Given the description of an element on the screen output the (x, y) to click on. 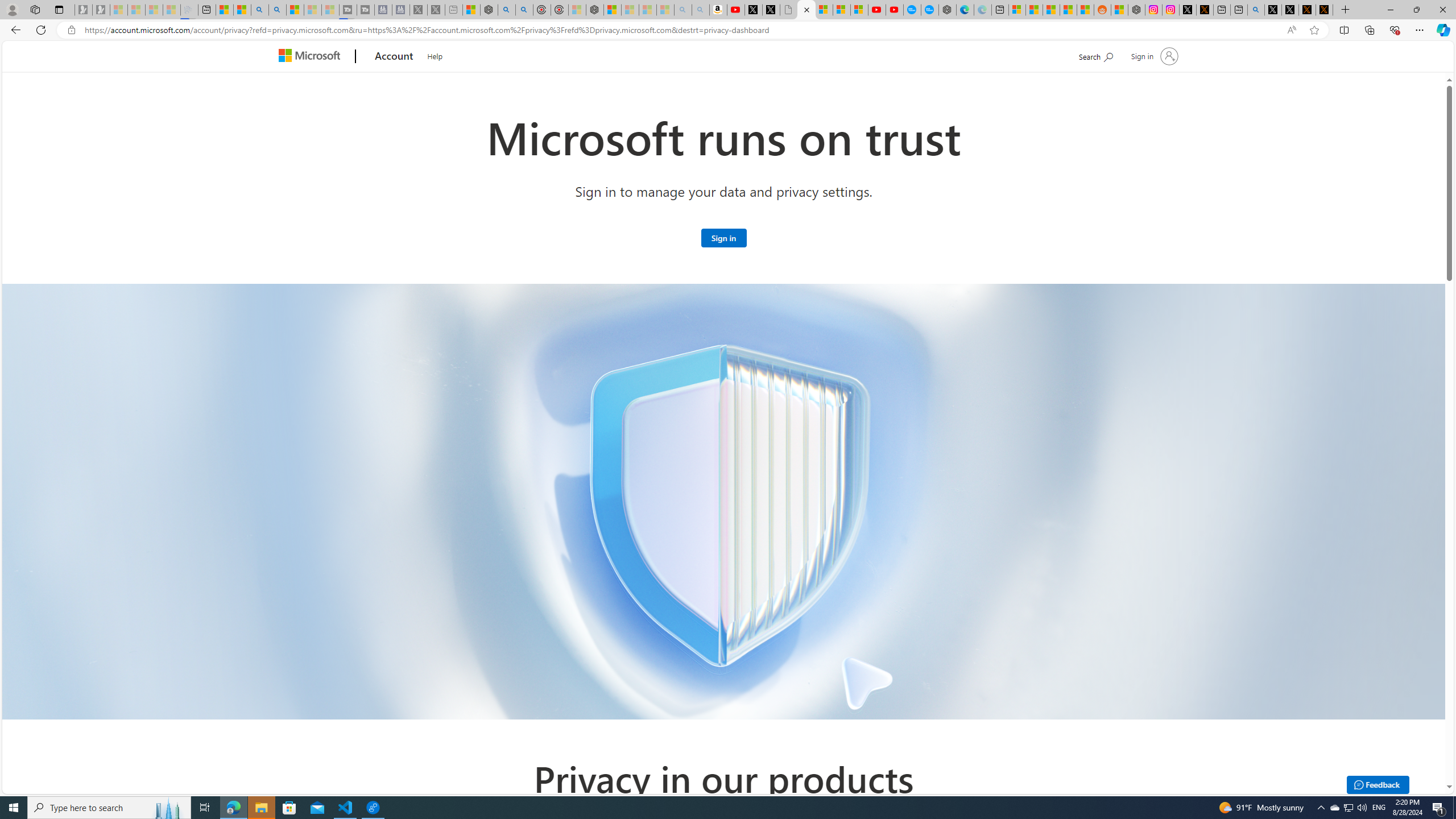
amazon - Search - Sleeping (683, 9)
Help (434, 54)
Day 1: Arriving in Yemen (surreal to be here) - YouTube (735, 9)
YouTube Kids - An App Created for Kids to Explore Content (894, 9)
Newsletter Sign Up - Sleeping (101, 9)
Streaming Coverage | T3 - Sleeping (347, 9)
Profile / X (1273, 9)
